Given the description of an element on the screen output the (x, y) to click on. 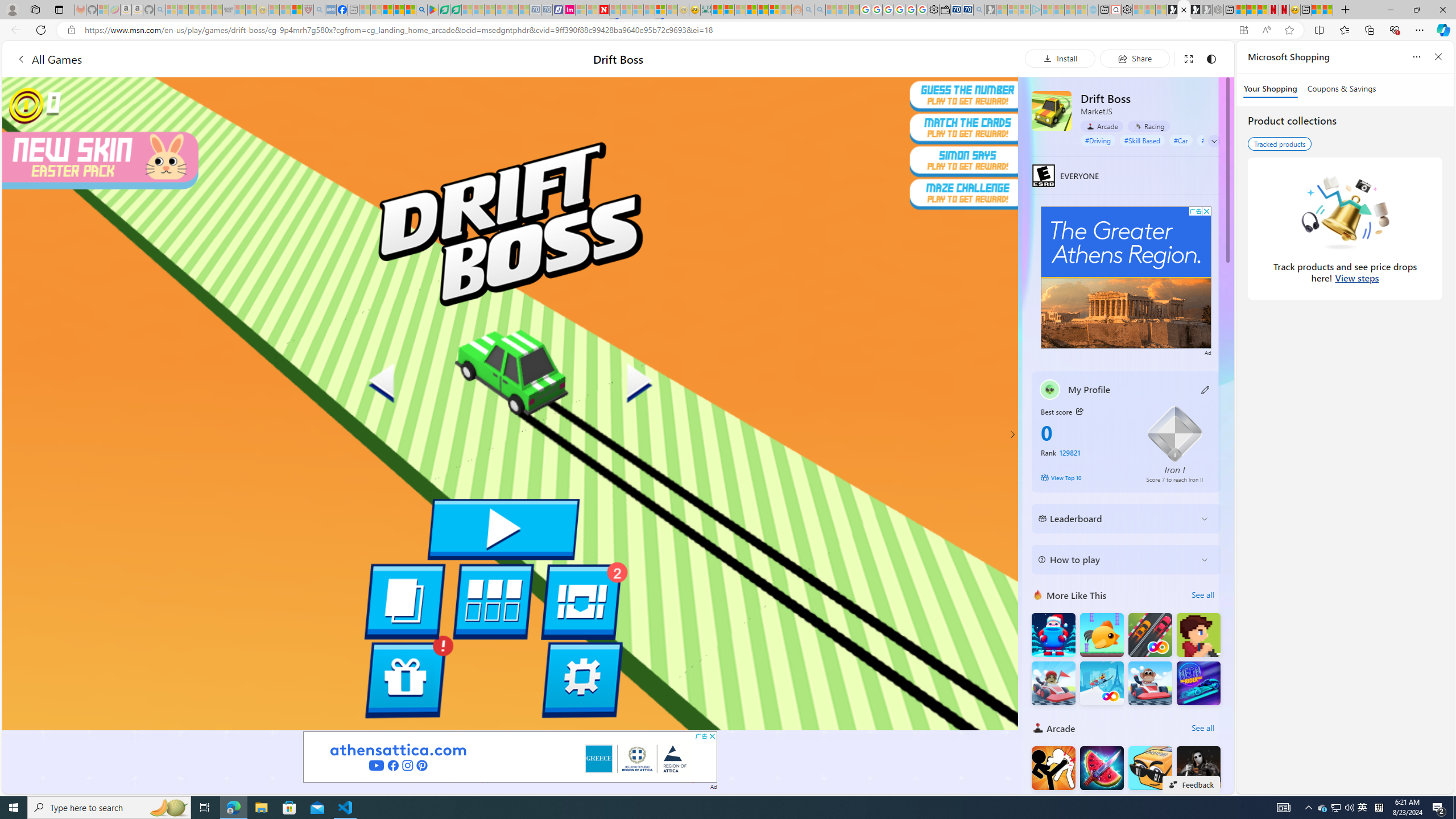
Bluey: Let's Play! - Apps on Google Play (433, 9)
#Car (1180, 140)
Stickman Fighter : Mega Brawl (1053, 767)
Kart Racing Pro (1053, 683)
Play Free Online Games | Games from Microsoft Start (1171, 9)
Address and search bar (658, 29)
#Endless (1214, 140)
Hunter Hitman (1198, 767)
Split screen (1318, 29)
